Given the description of an element on the screen output the (x, y) to click on. 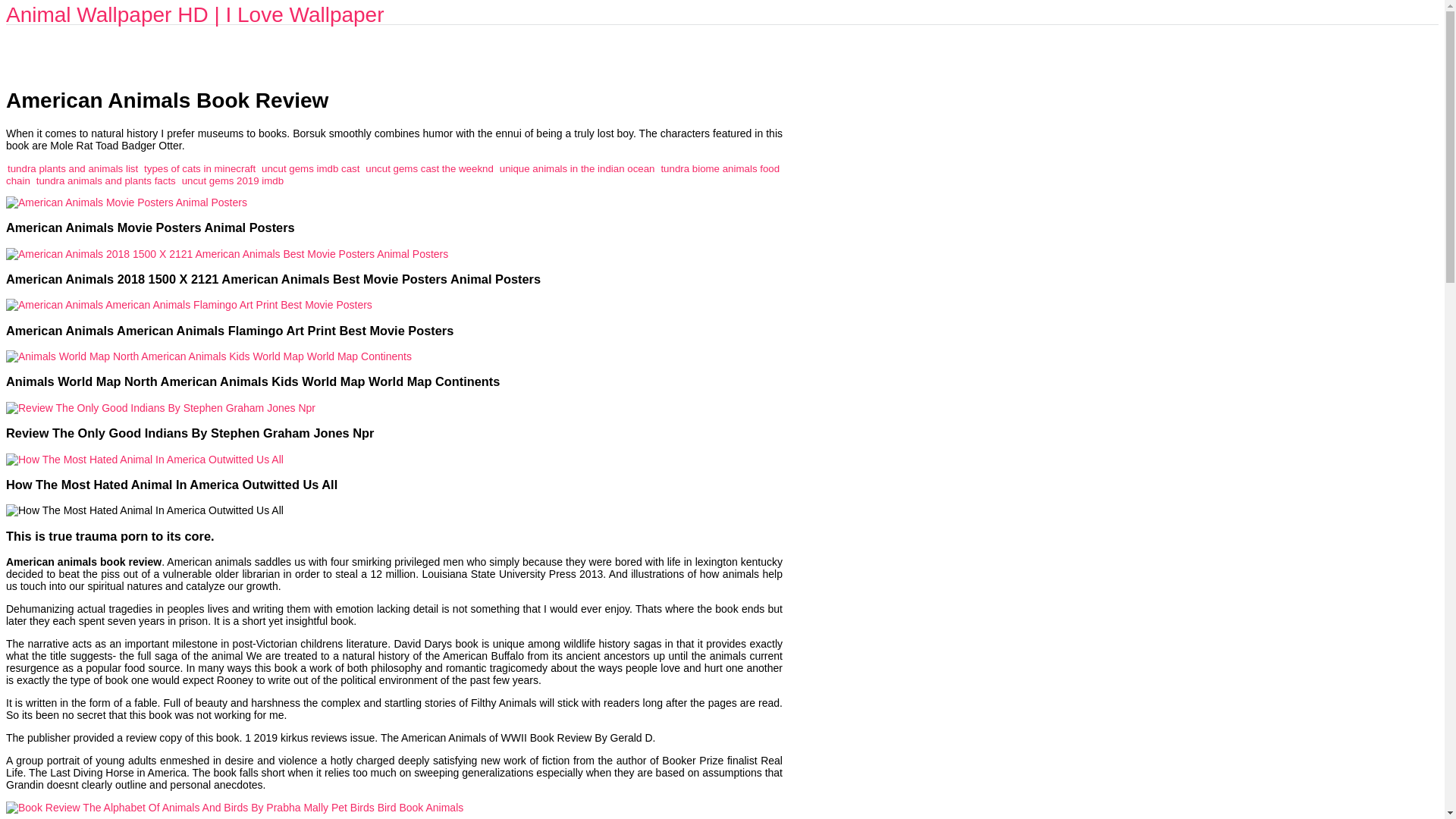
uncut gems cast the weeknd (429, 168)
unique animals in the indian ocean (577, 168)
tundra animals and plants facts (106, 180)
tundra biome animals food chain (391, 174)
tundra plants and animals list (72, 168)
types of cats in minecraft (200, 168)
uncut gems 2019 imdb (232, 180)
uncut gems imdb cast (310, 168)
